Given the description of an element on the screen output the (x, y) to click on. 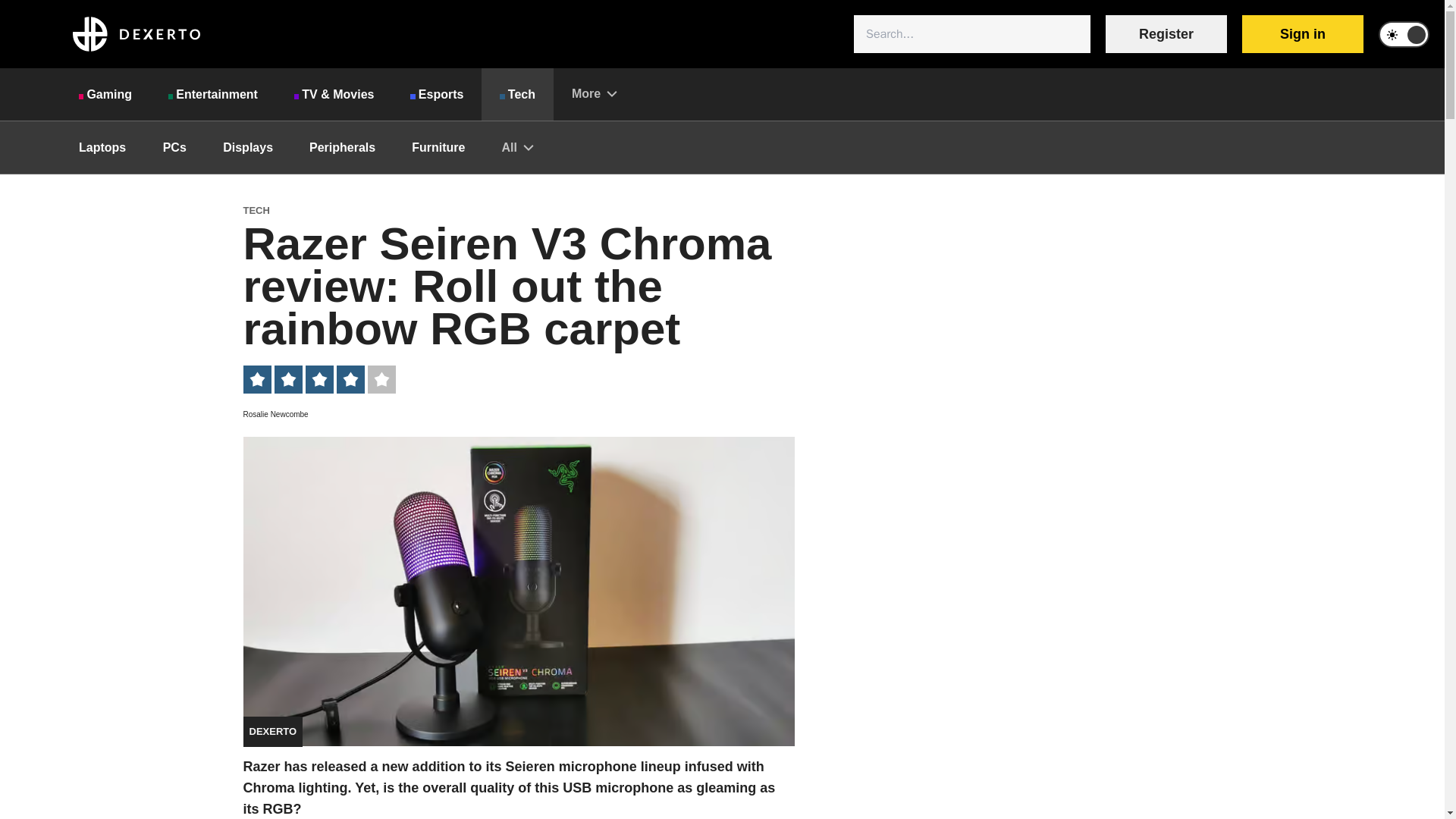
Entertainment (212, 93)
Gaming (105, 93)
Displays (248, 147)
Sign in (1301, 34)
More (593, 93)
All (517, 147)
PCs (174, 147)
Furniture (438, 147)
Tech (517, 93)
Esports (436, 93)
